Given the description of an element on the screen output the (x, y) to click on. 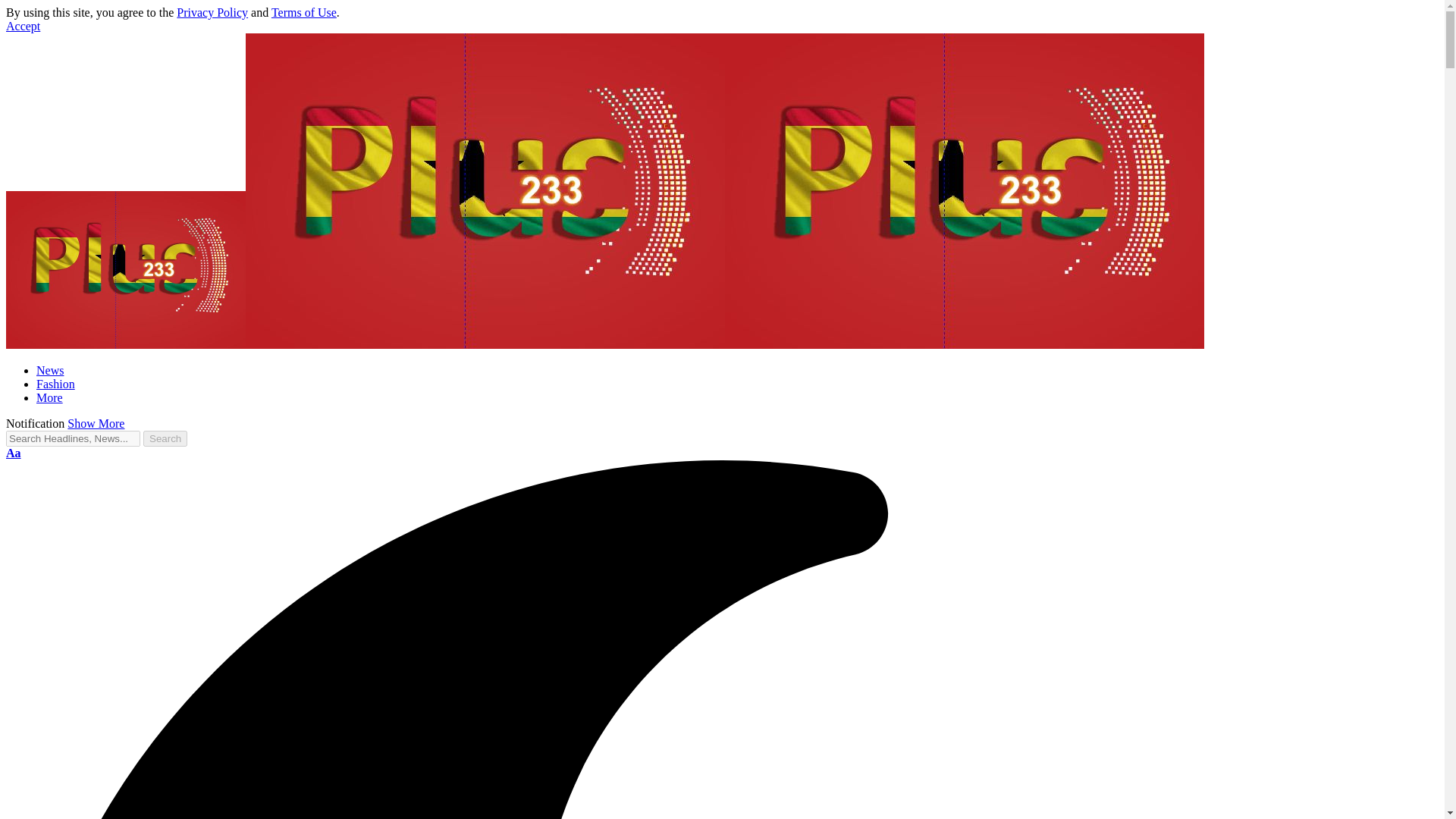
Accept (22, 25)
Search (164, 438)
Search (164, 438)
News (50, 369)
Fashion (55, 383)
Aa (13, 452)
Privacy Policy (211, 11)
Terms of Use (303, 11)
More (49, 397)
Show More (94, 422)
